Given the description of an element on the screen output the (x, y) to click on. 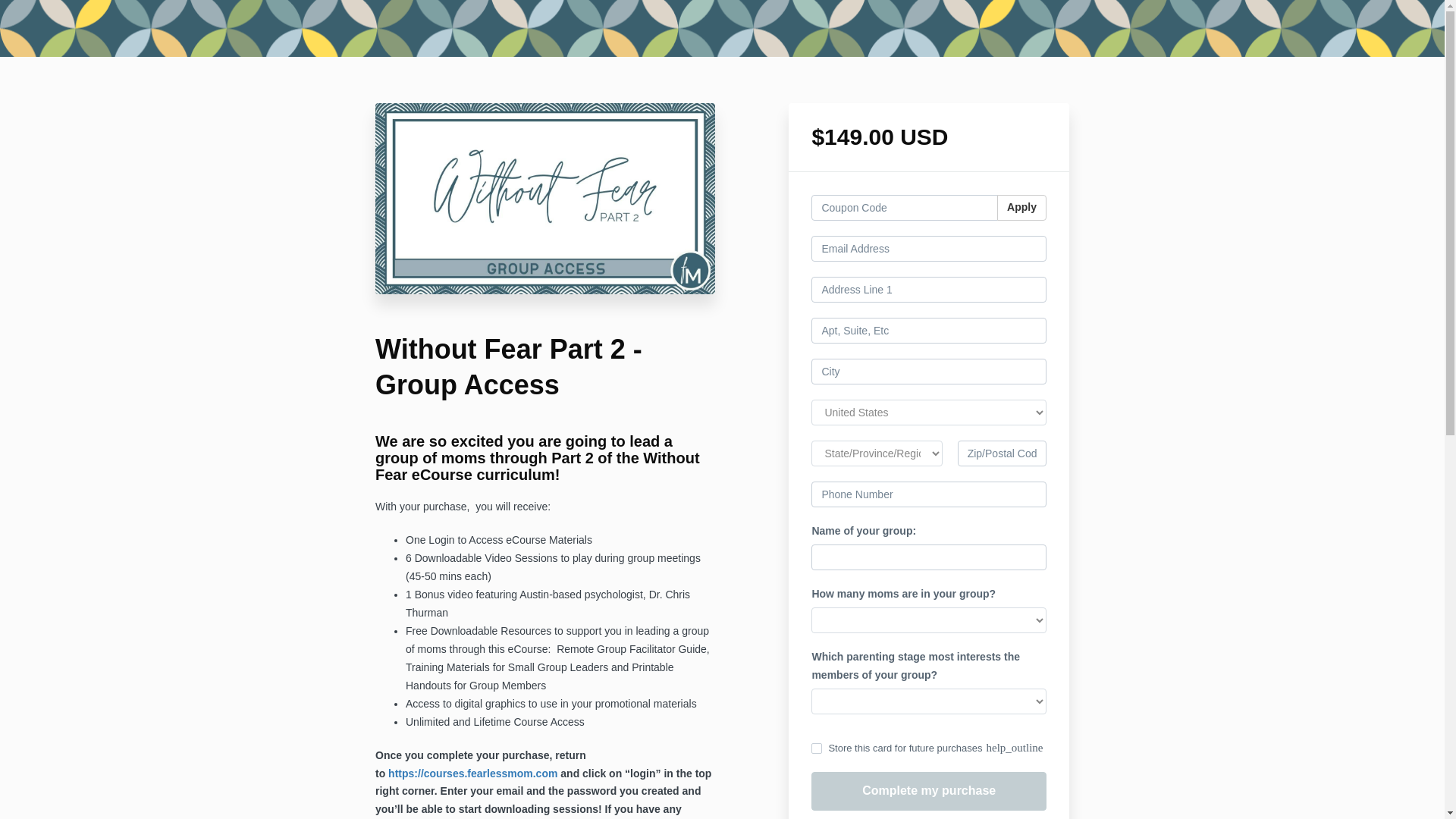
Complete my purchase (928, 791)
Apply (1021, 207)
Complete my purchase (928, 791)
1 (816, 747)
